Given the description of an element on the screen output the (x, y) to click on. 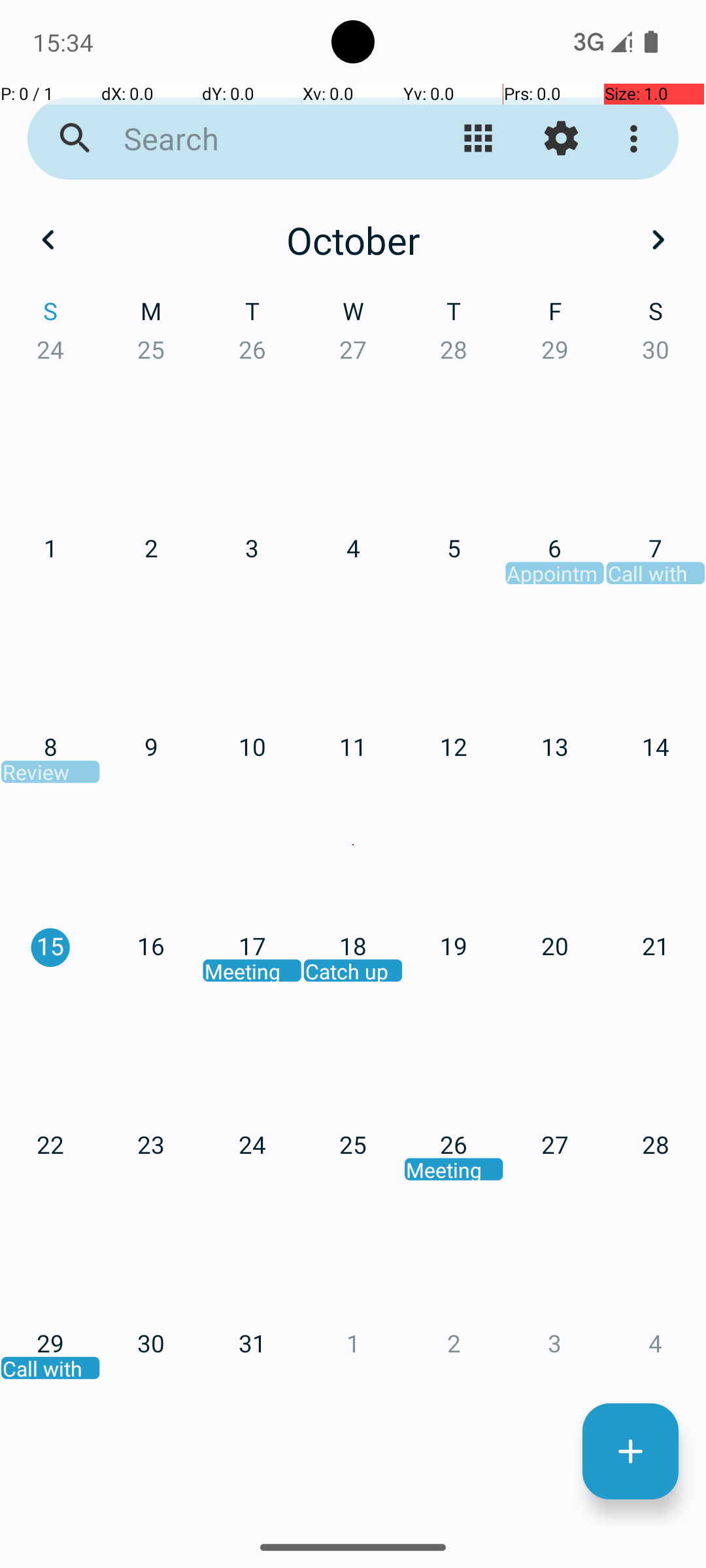
Change view Element type: android.widget.Button (477, 138)
New Event Element type: android.widget.ImageButton (630, 1451)
October Element type: android.widget.TextView (352, 239)
